Given the description of an element on the screen output the (x, y) to click on. 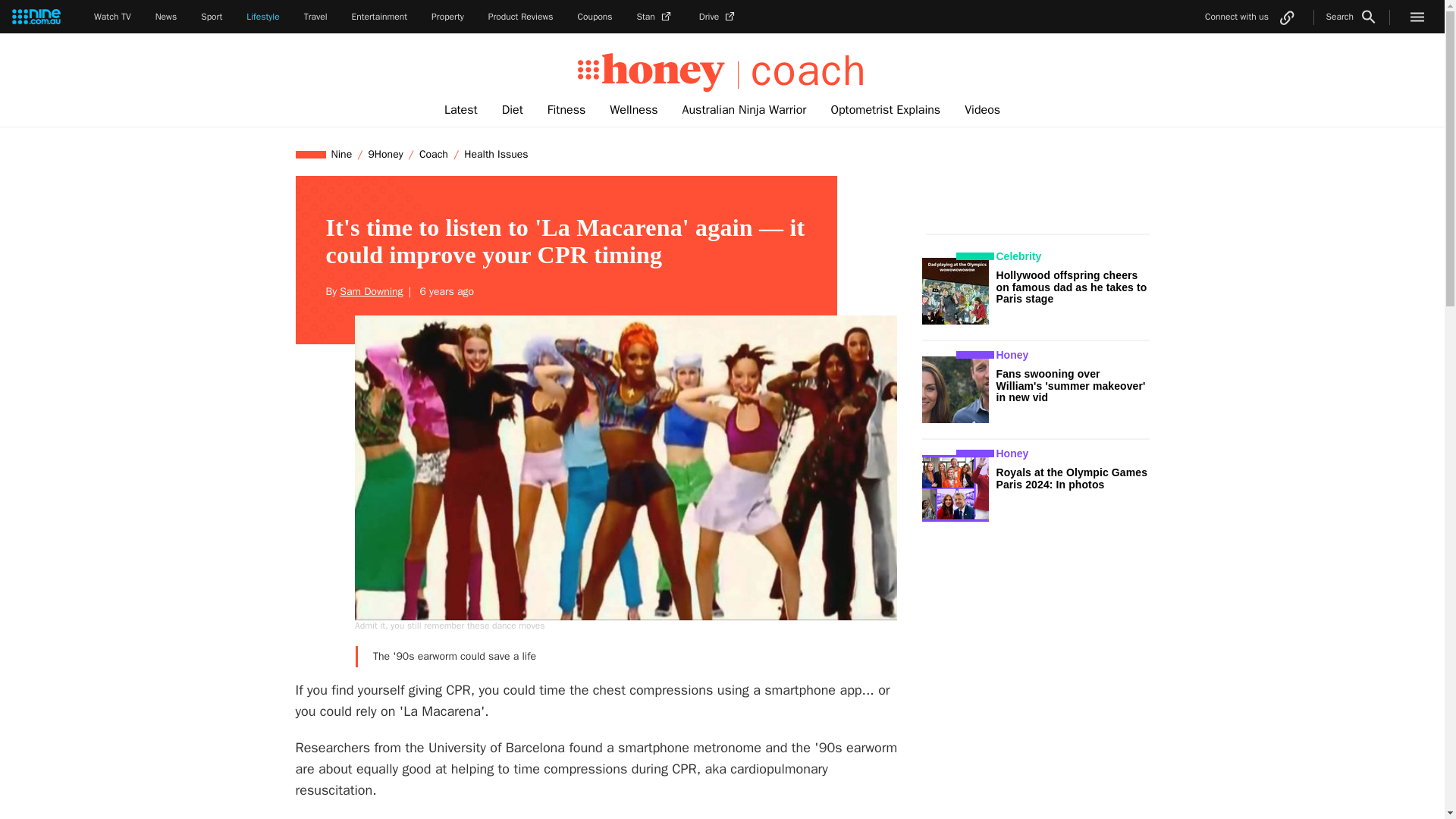
Watch TV (112, 16)
Videos (981, 109)
Product Reviews (520, 16)
Diet (512, 109)
Stan (656, 16)
Latest (460, 109)
Drive (718, 16)
Nine (342, 154)
coach (802, 71)
2018-06-04 02:24 (443, 291)
